Given the description of an element on the screen output the (x, y) to click on. 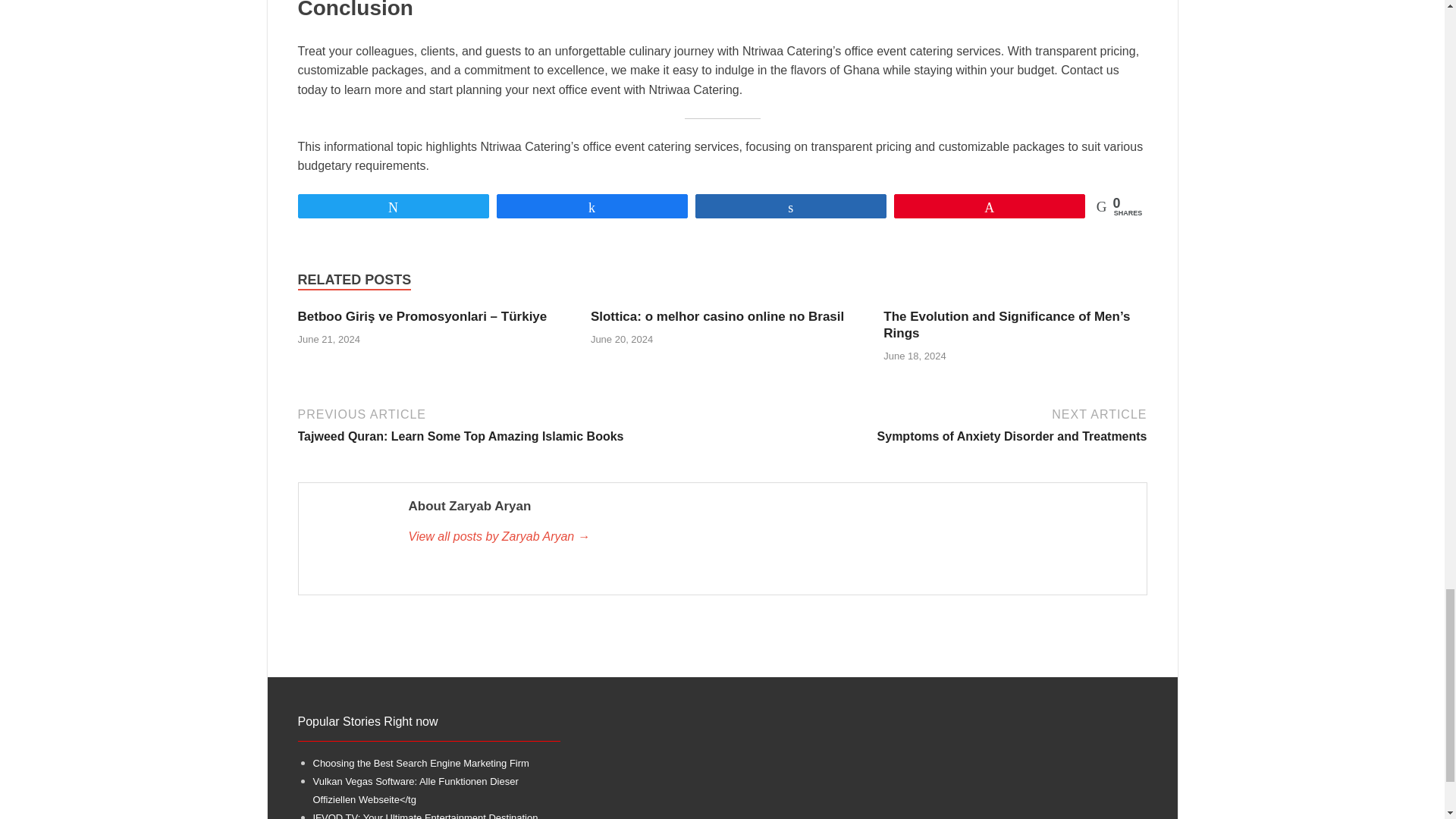
Slottica: o melhor casino online no Brasil (717, 316)
Zaryab Aryan (769, 536)
Slottica: o melhor casino online no Brasil (717, 316)
Choosing the Best Search Engine Marketing Firm (936, 424)
